Given the description of an element on the screen output the (x, y) to click on. 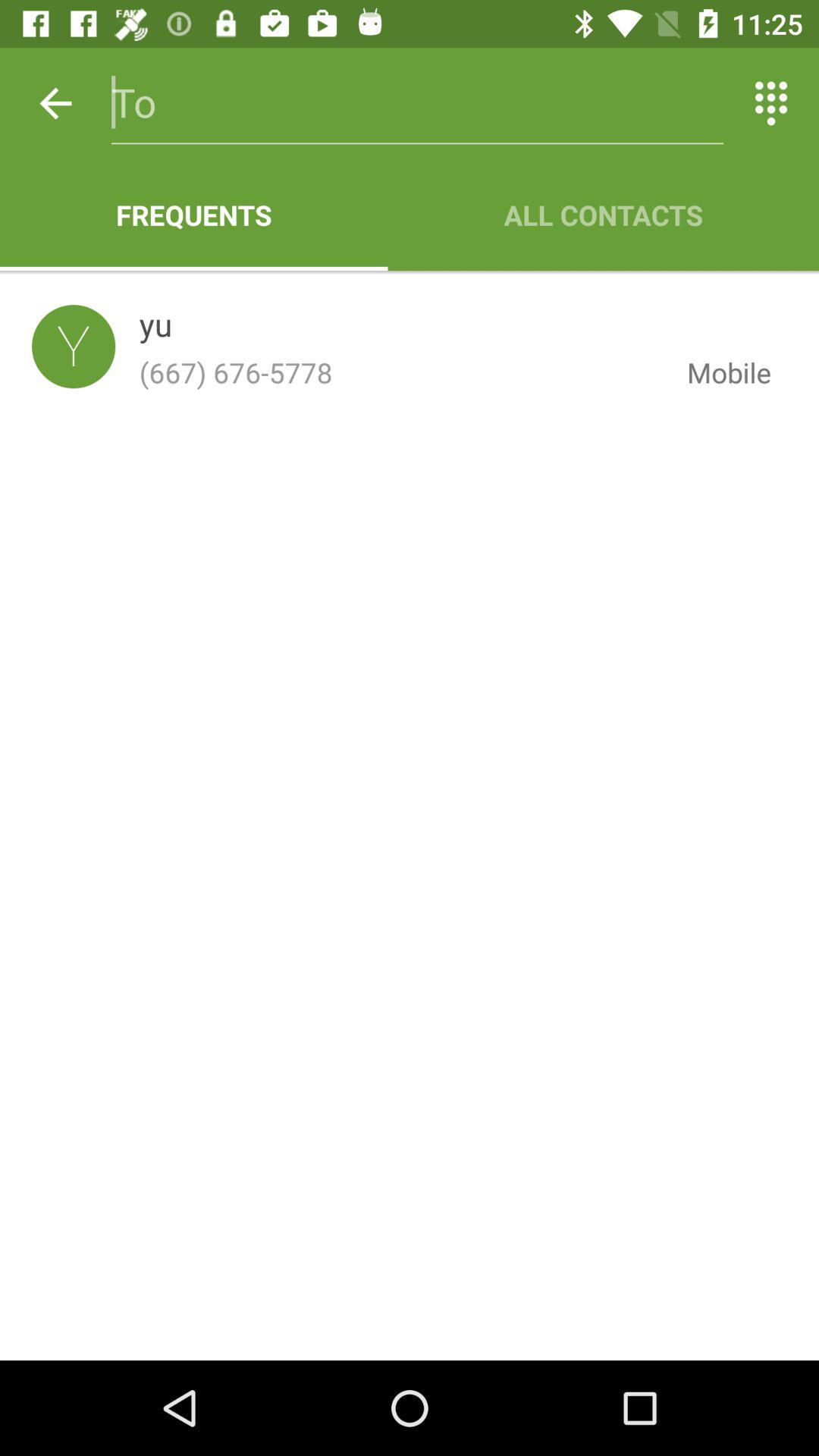
flip to yu item (155, 327)
